Given the description of an element on the screen output the (x, y) to click on. 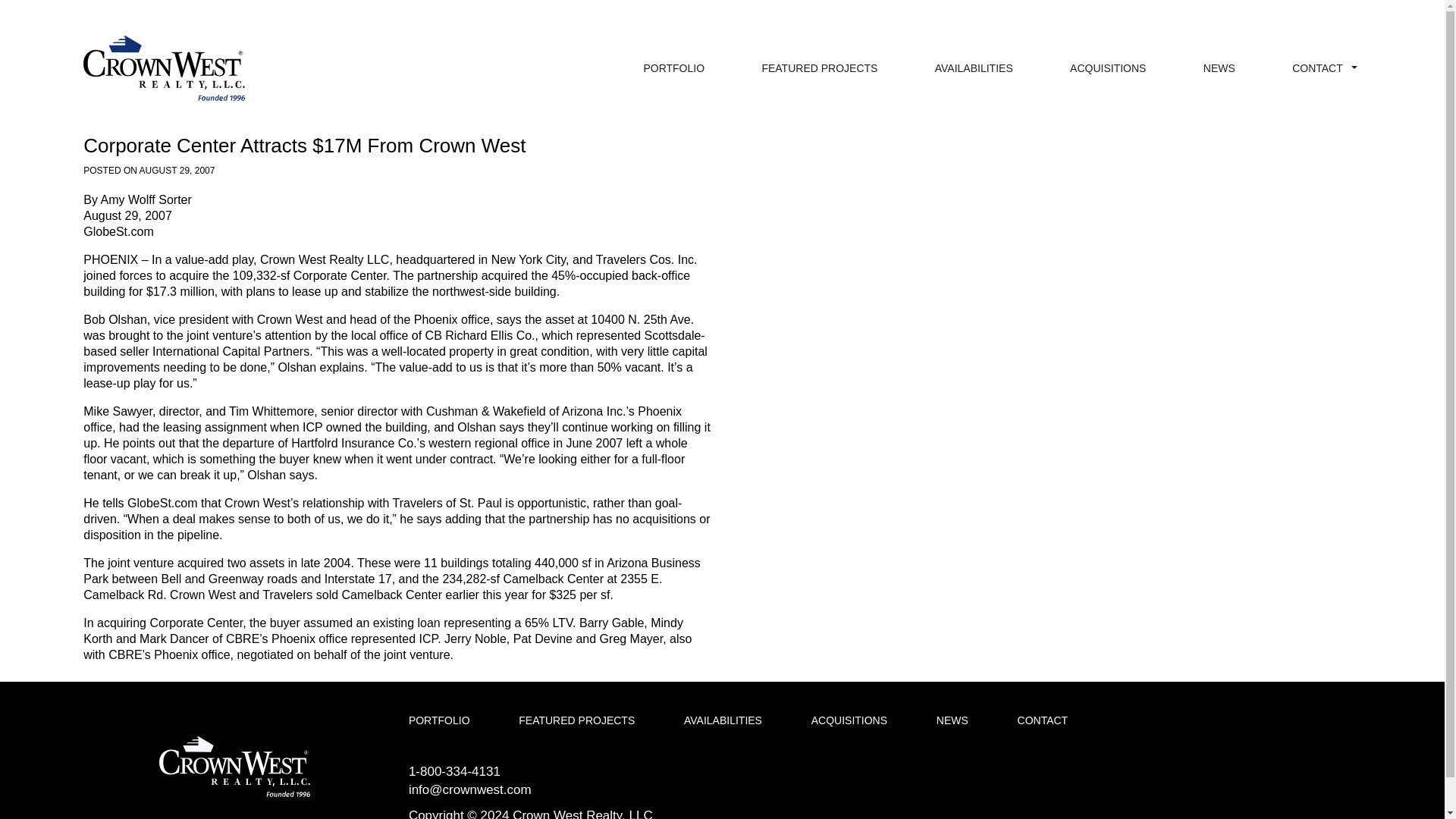
ACQUISITIONS (1107, 67)
Crown West Realty (163, 68)
1-800-334-4131 (454, 771)
PORTFOLIO (673, 67)
PORTFOLIO (439, 720)
NEWS (952, 720)
Crown West Realty (233, 766)
AVAILABILITIES (722, 720)
FEATURED PROJECTS (819, 67)
NEWS (1219, 67)
